Given the description of an element on the screen output the (x, y) to click on. 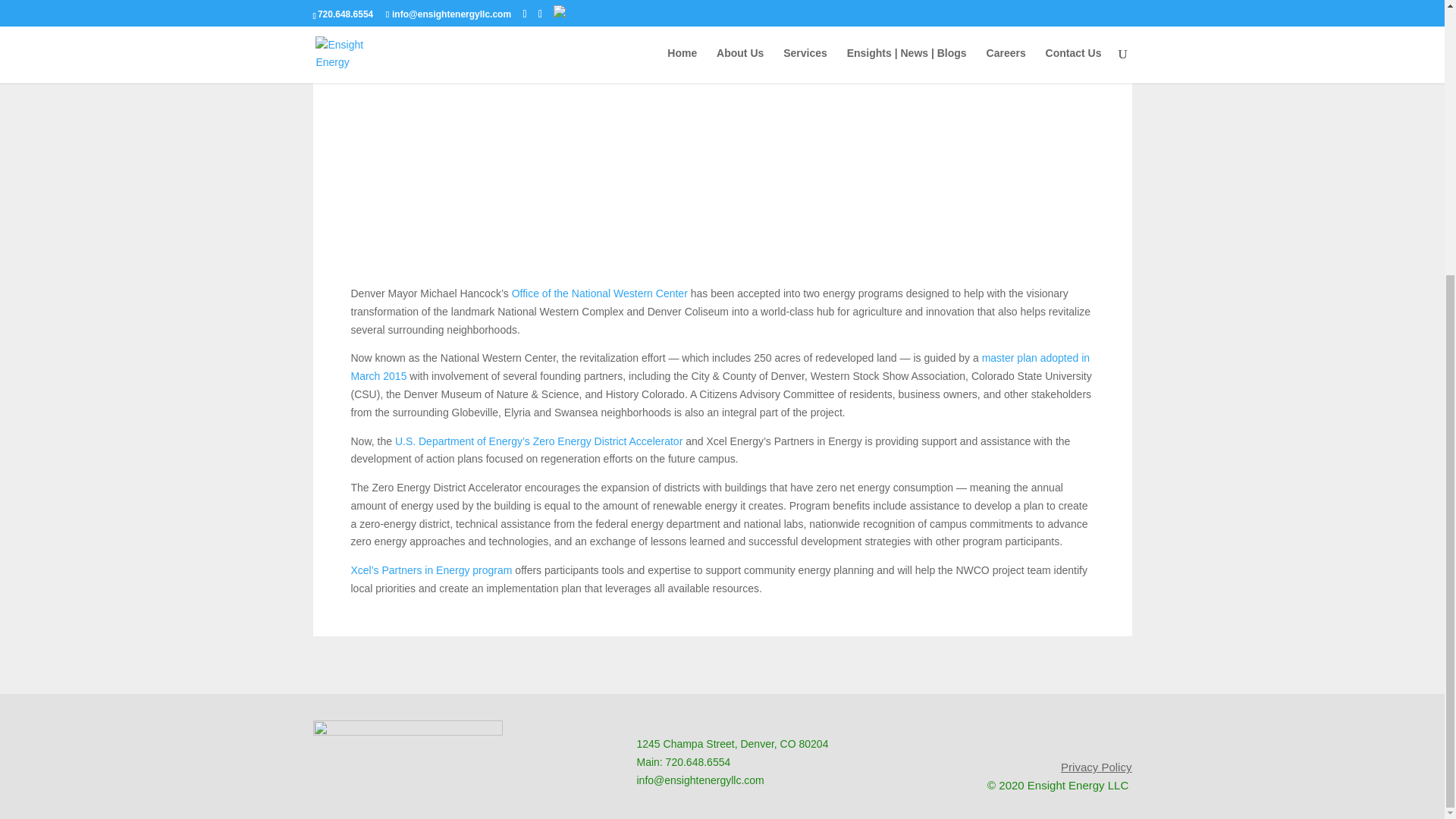
Privacy Policy (1096, 766)
logo-footer-b (407, 758)
master plan adopted in March 2015 (719, 367)
Privacy Policy (1096, 766)
Office of the National Western Center (599, 293)
